Given the description of an element on the screen output the (x, y) to click on. 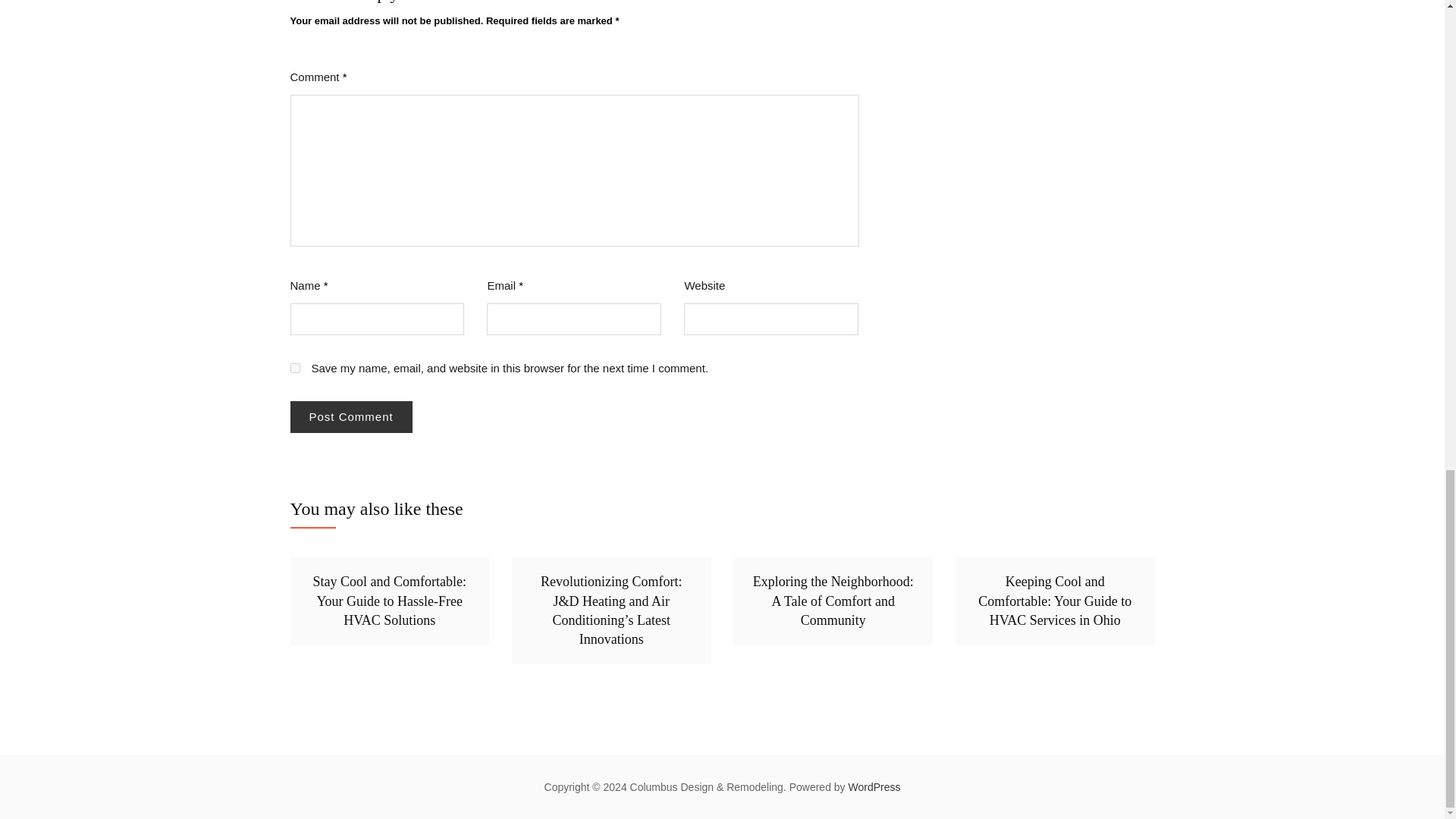
yes (294, 368)
Post Comment (350, 416)
Post Comment (350, 416)
